Given the description of an element on the screen output the (x, y) to click on. 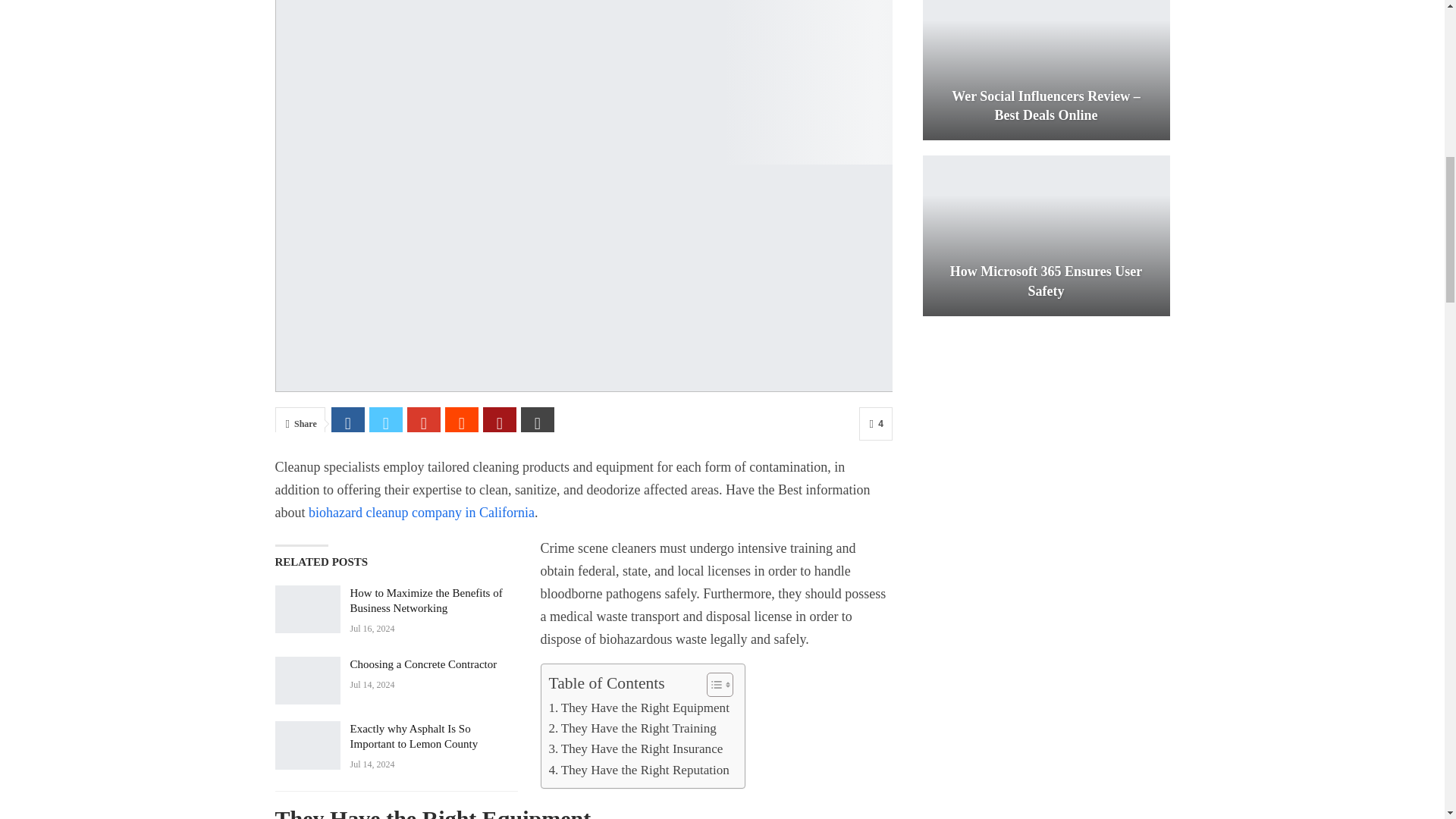
They Have the Right Reputation (638, 770)
They Have the Right Training (632, 728)
Choosing a Concrete Contractor (307, 680)
They Have the Right Equipment (638, 707)
They Have the Right Insurance (635, 748)
Exactly why Asphalt Is So Important to Lemon County (307, 745)
How to Maximize the Benefits of Business Networking (307, 609)
